Given the description of an element on the screen output the (x, y) to click on. 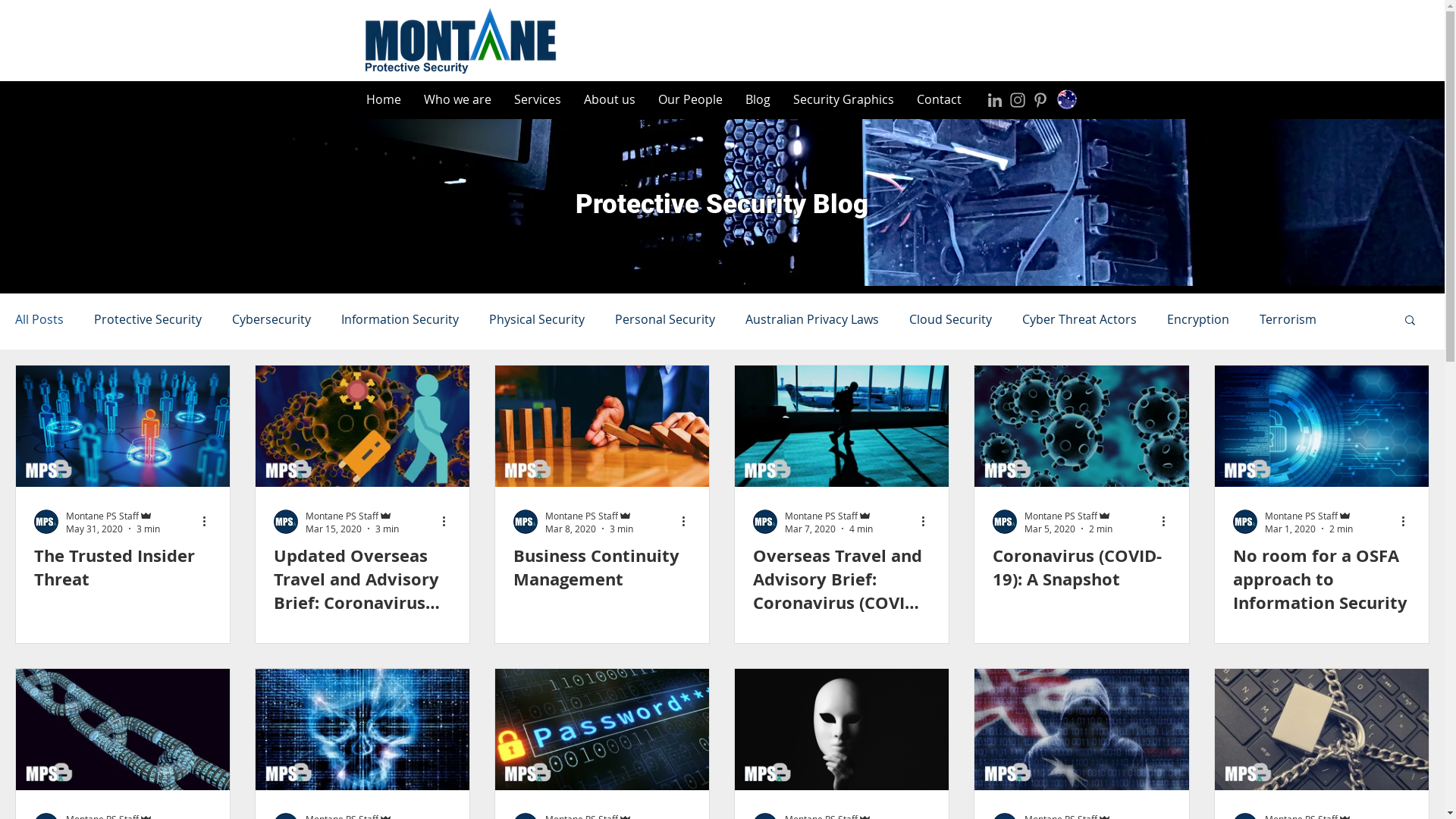
Services Element type: text (536, 99)
Physical Security Element type: text (536, 318)
Coronavirus (COVID-19): A Snapshot Element type: text (1081, 567)
Australian Privacy Laws Element type: text (811, 318)
Personal Security Element type: text (665, 318)
Business Continuity Management Element type: text (601, 567)
No room for a OSFA approach to Information Security Element type: text (1321, 579)
Home Element type: text (383, 99)
Cybersecurity Element type: text (271, 318)
Information Security Element type: text (399, 318)
Terrorism Element type: text (1287, 318)
Contact Element type: text (938, 99)
Encryption Element type: text (1198, 318)
Overseas Travel and Advisory Brief: Coronavirus (COVID-19) Element type: text (841, 579)
Cyber Threat Actors Element type: text (1079, 318)
Cloud Security Element type: text (950, 318)
The Trusted Insider Threat Element type: text (122, 567)
Who we are Element type: text (457, 99)
Protective Security Element type: text (147, 318)
Security Graphics Element type: text (842, 99)
All Posts Element type: text (39, 318)
About us Element type: text (608, 99)
Our People Element type: text (689, 99)
Blog Element type: text (757, 99)
